Given the description of an element on the screen output the (x, y) to click on. 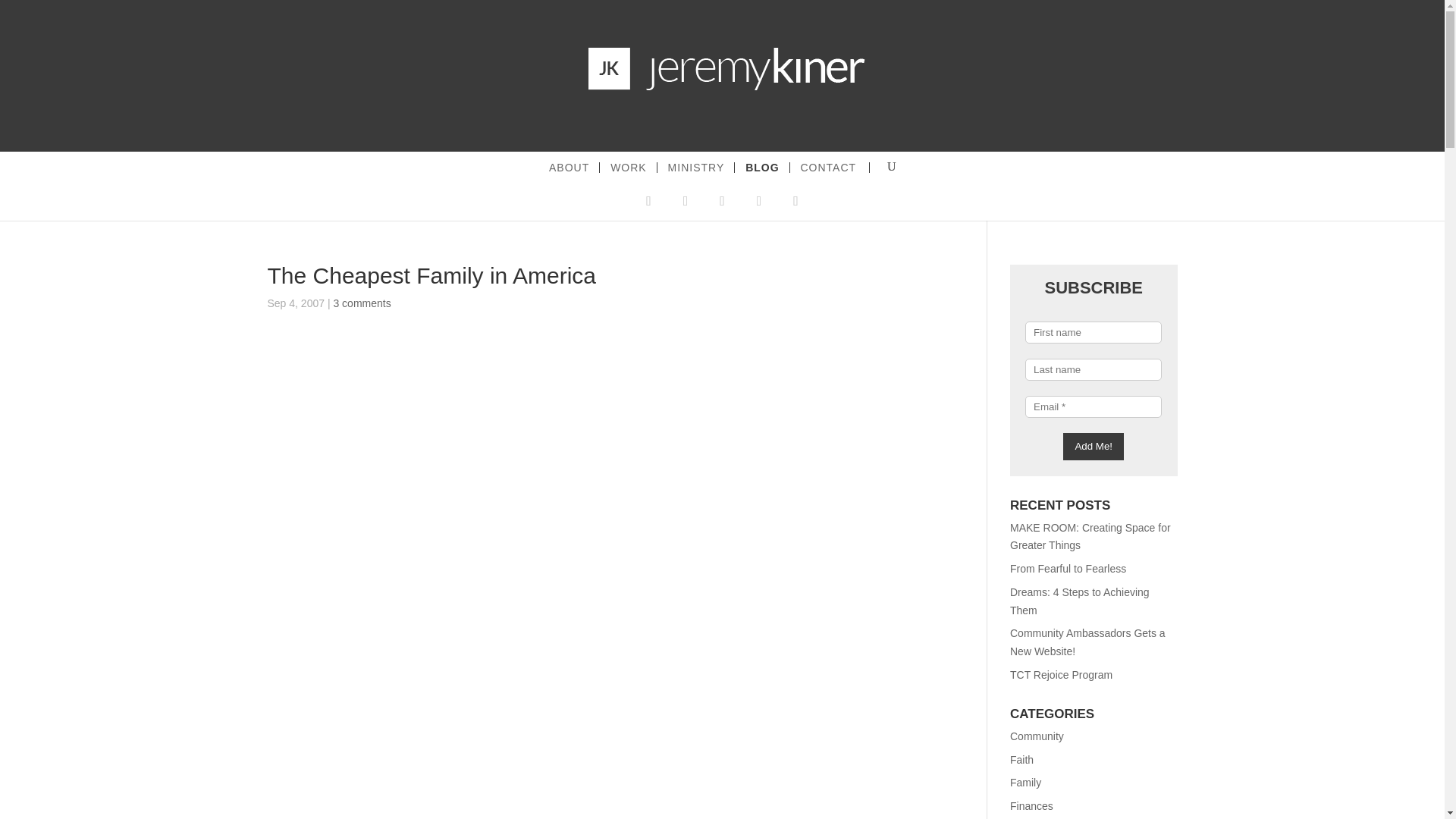
CONTACT (829, 167)
Email (1093, 406)
Faith (1021, 759)
Add Me! (1093, 445)
TCT Rejoice Program (1061, 674)
MINISTRY (698, 167)
ABOUT (569, 167)
BLOG (763, 167)
From Fearful to Fearless (1067, 568)
Dreams: 4 Steps to Achieving Them (1080, 601)
